Given the description of an element on the screen output the (x, y) to click on. 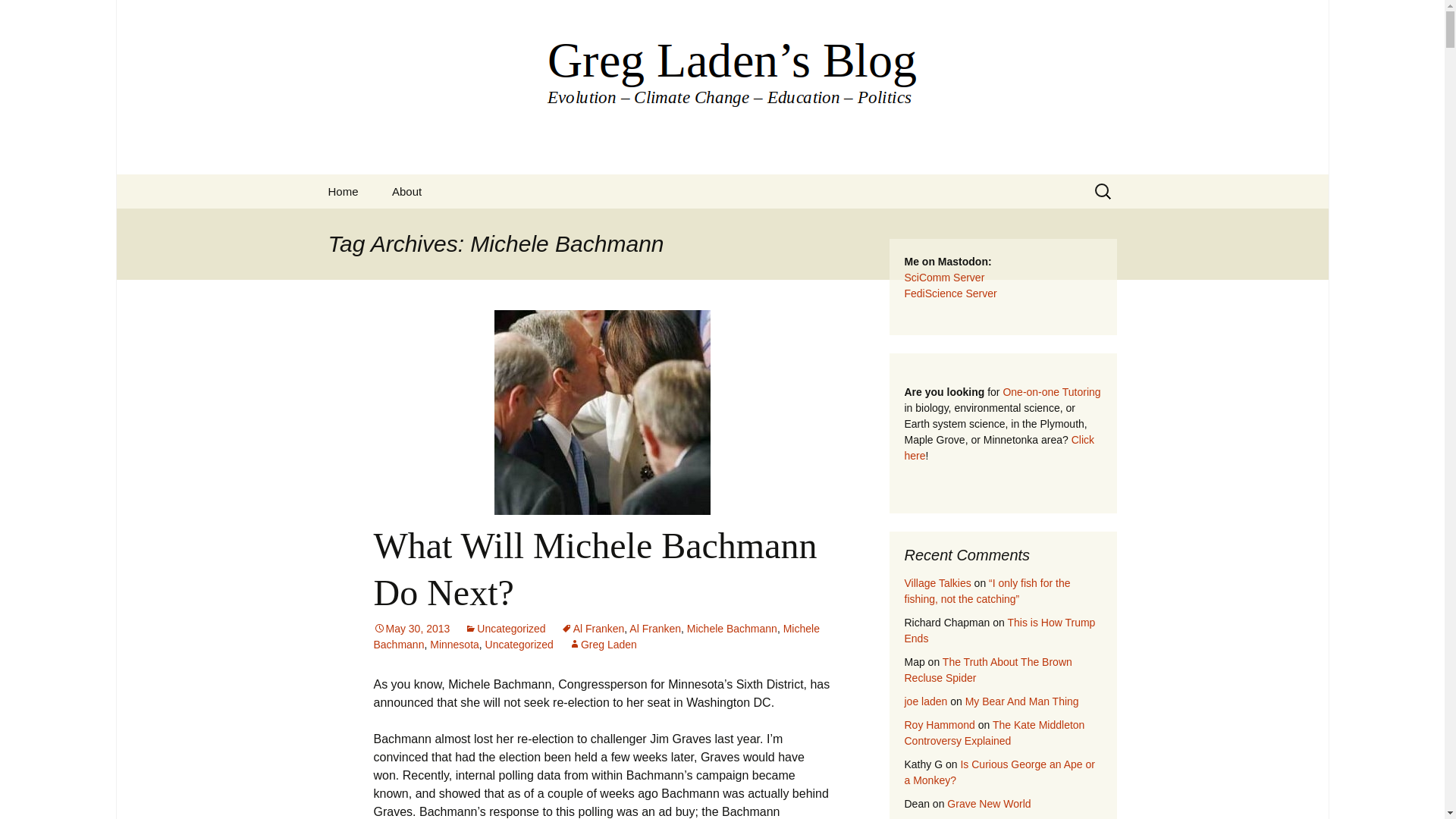
Uncategorized (518, 644)
Al Franken (654, 628)
Greg Laden (603, 644)
Al Franken (592, 628)
Michele Bachmann (595, 636)
Home (342, 191)
Uncategorized (504, 628)
View all posts by Greg Laden (603, 644)
